Given the description of an element on the screen output the (x, y) to click on. 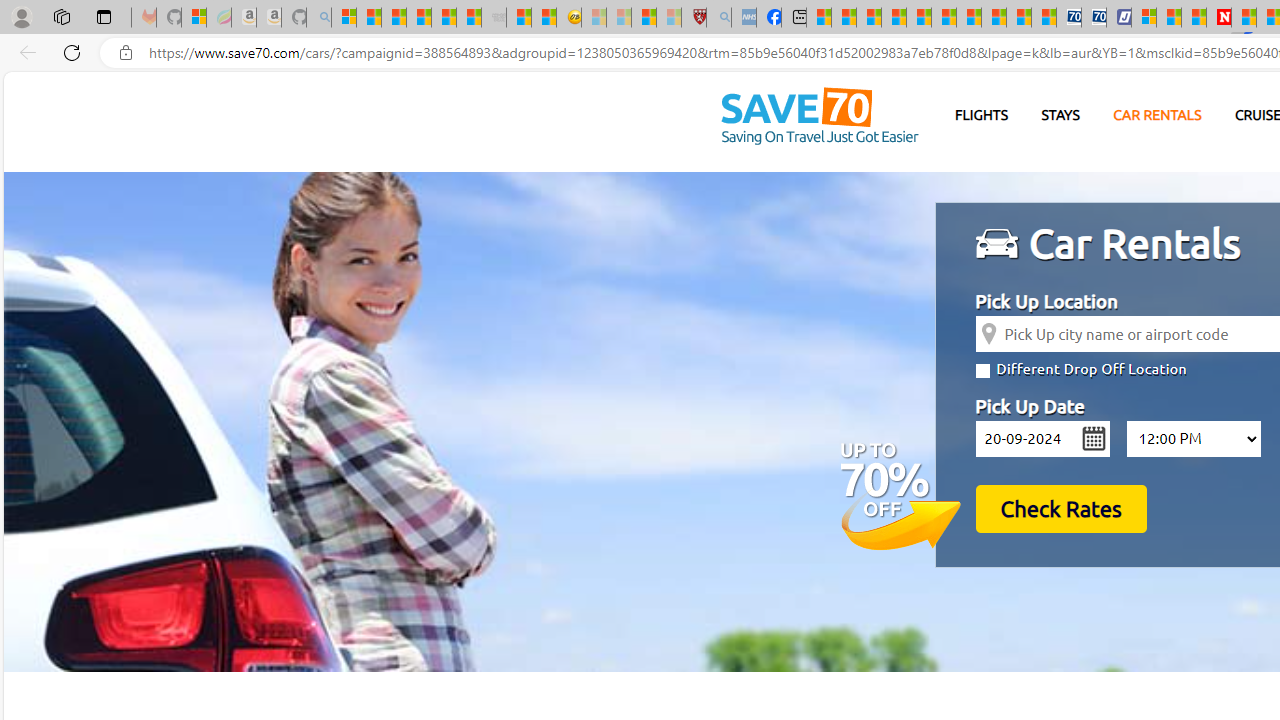
Workspaces (61, 16)
STAYS (1060, 115)
Microsoft-Report a Concern to Bing (193, 17)
12 Popular Science Lies that Must be Corrected - Sleeping (668, 17)
Microsoft Start (1169, 17)
Check Rates (1060, 507)
New tab (794, 17)
Homepage (819, 117)
Combat Siege - Sleeping (493, 17)
Refresh (72, 52)
